Given the description of an element on the screen output the (x, y) to click on. 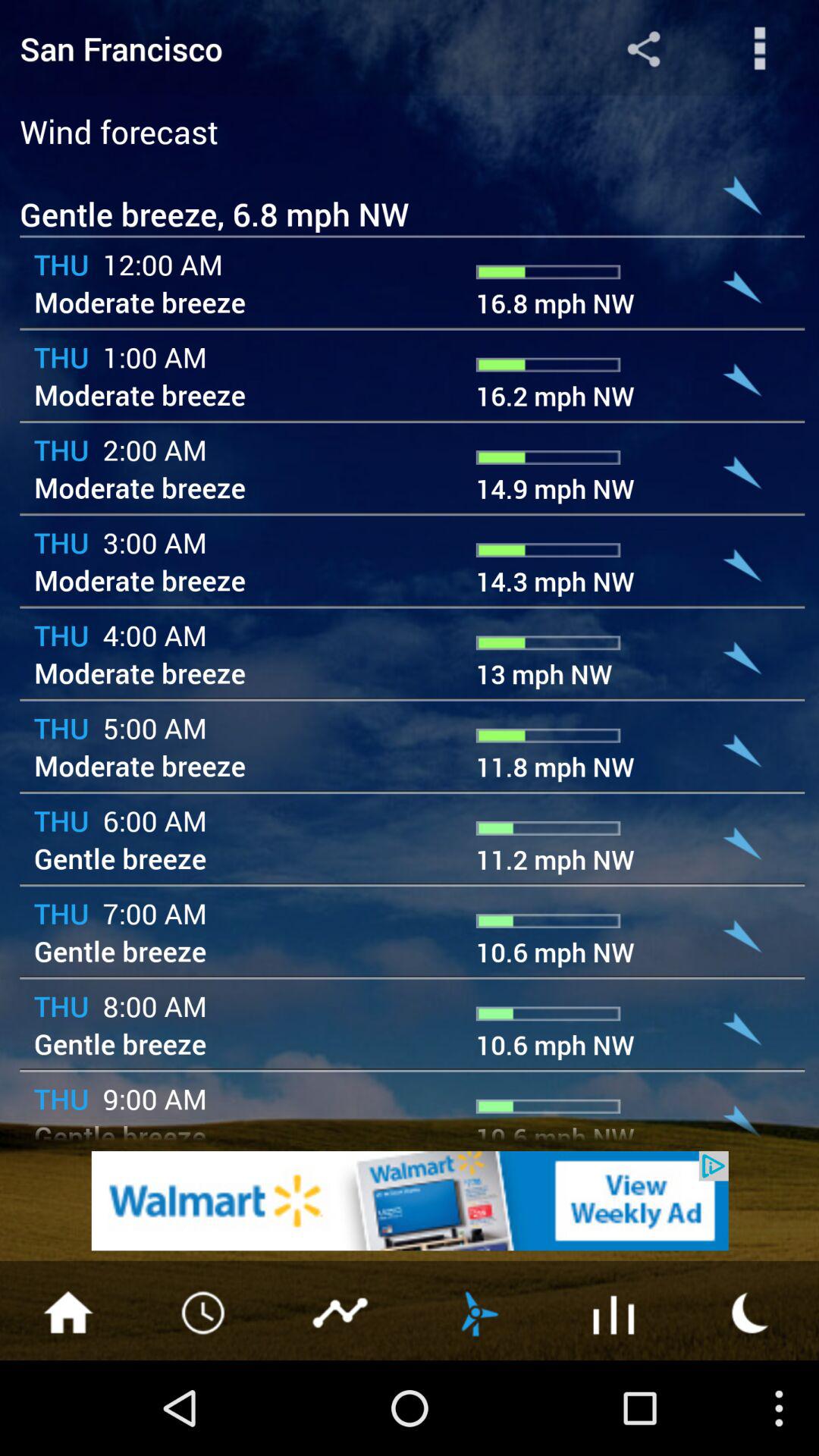
advertisement (409, 1200)
